Given the description of an element on the screen output the (x, y) to click on. 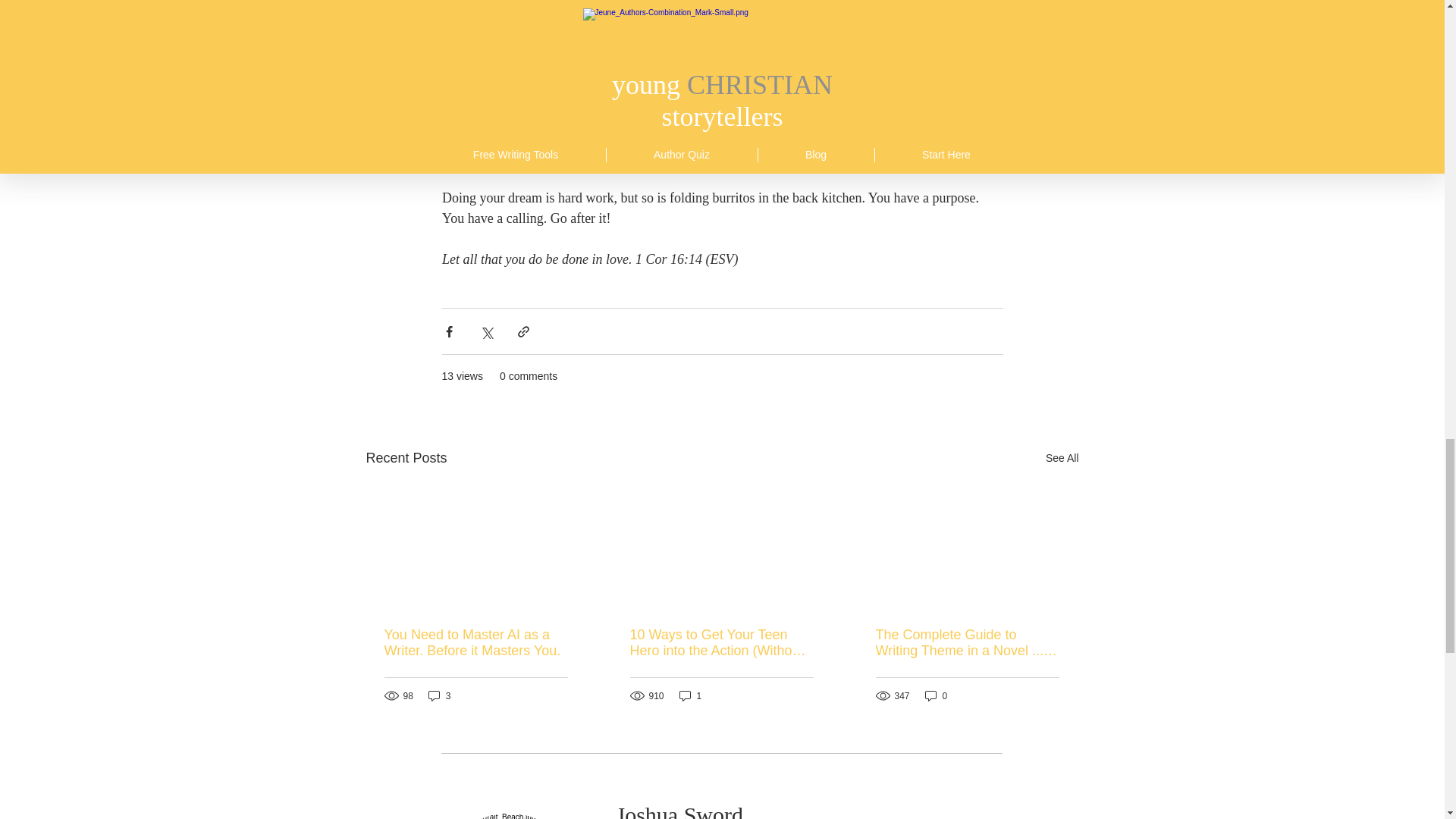
You Need to Master AI as a Writer. Before it Masters You. (475, 643)
1 (690, 695)
3 (439, 695)
See All (1061, 458)
0 (936, 695)
